Given the description of an element on the screen output the (x, y) to click on. 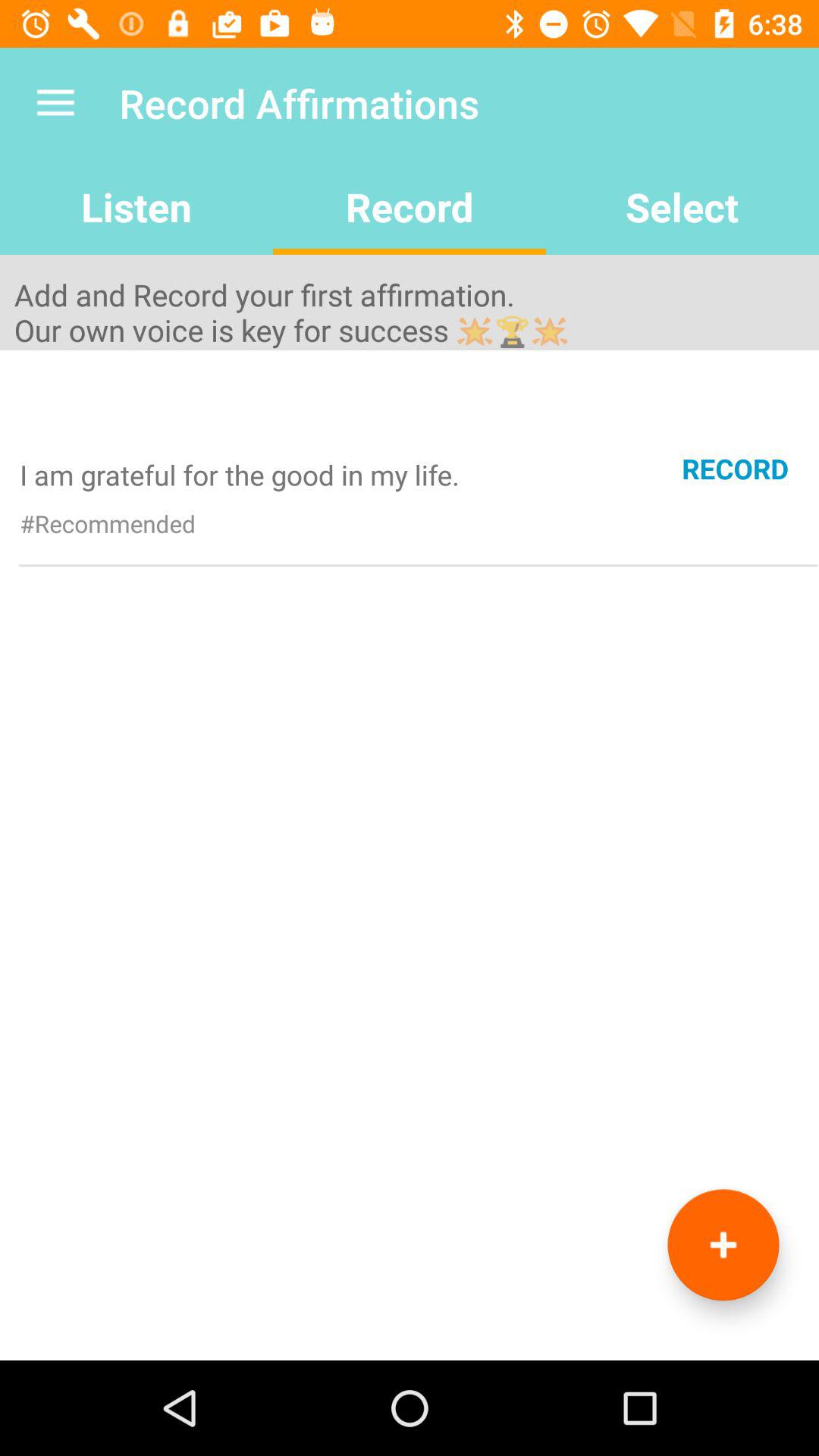
select the icon at the bottom right corner (723, 1244)
